Given the description of an element on the screen output the (x, y) to click on. 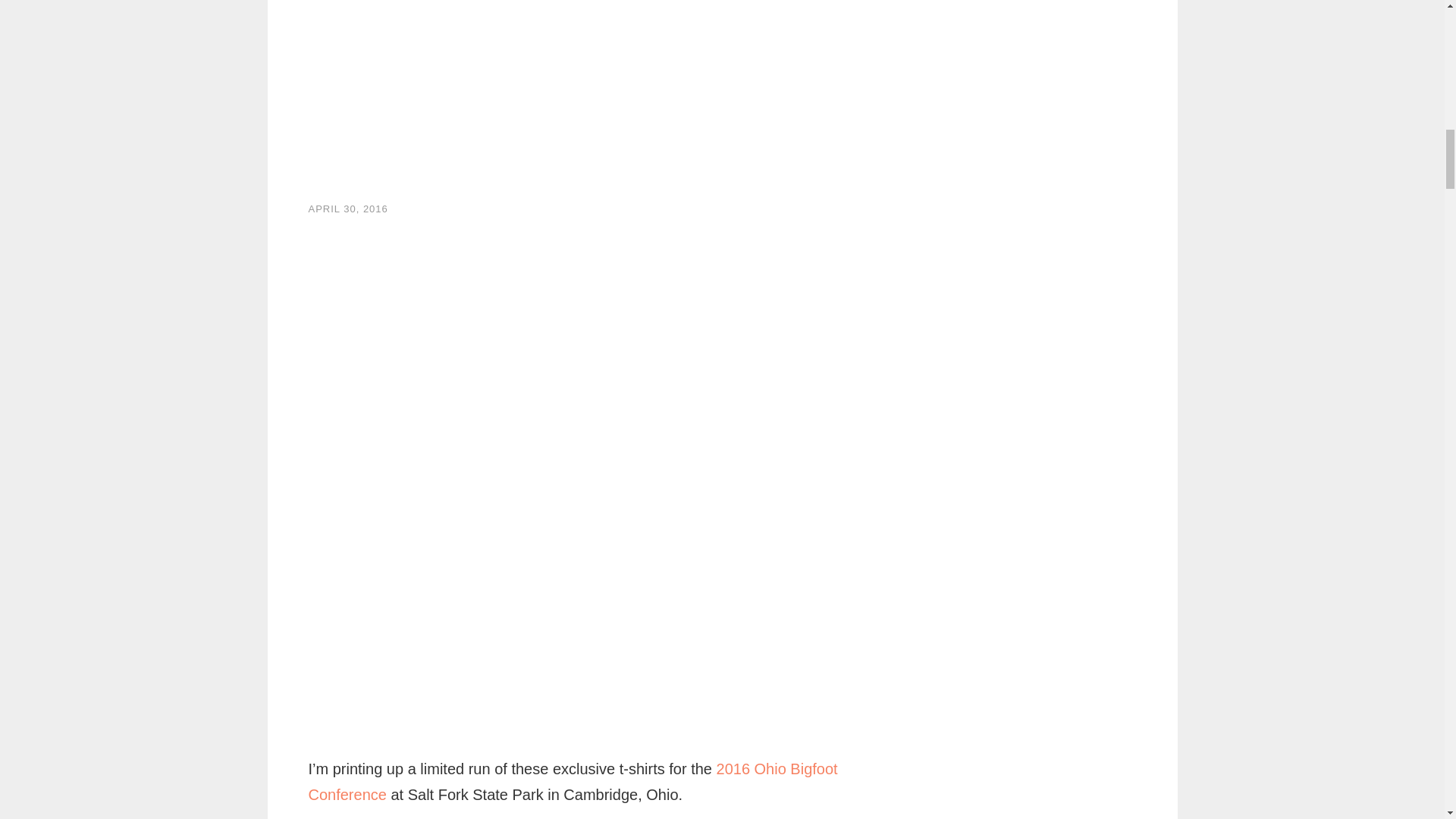
2016 Ohio Bigfoot Conference (572, 781)
APRIL 30, 2016 (347, 208)
